Given the description of an element on the screen output the (x, y) to click on. 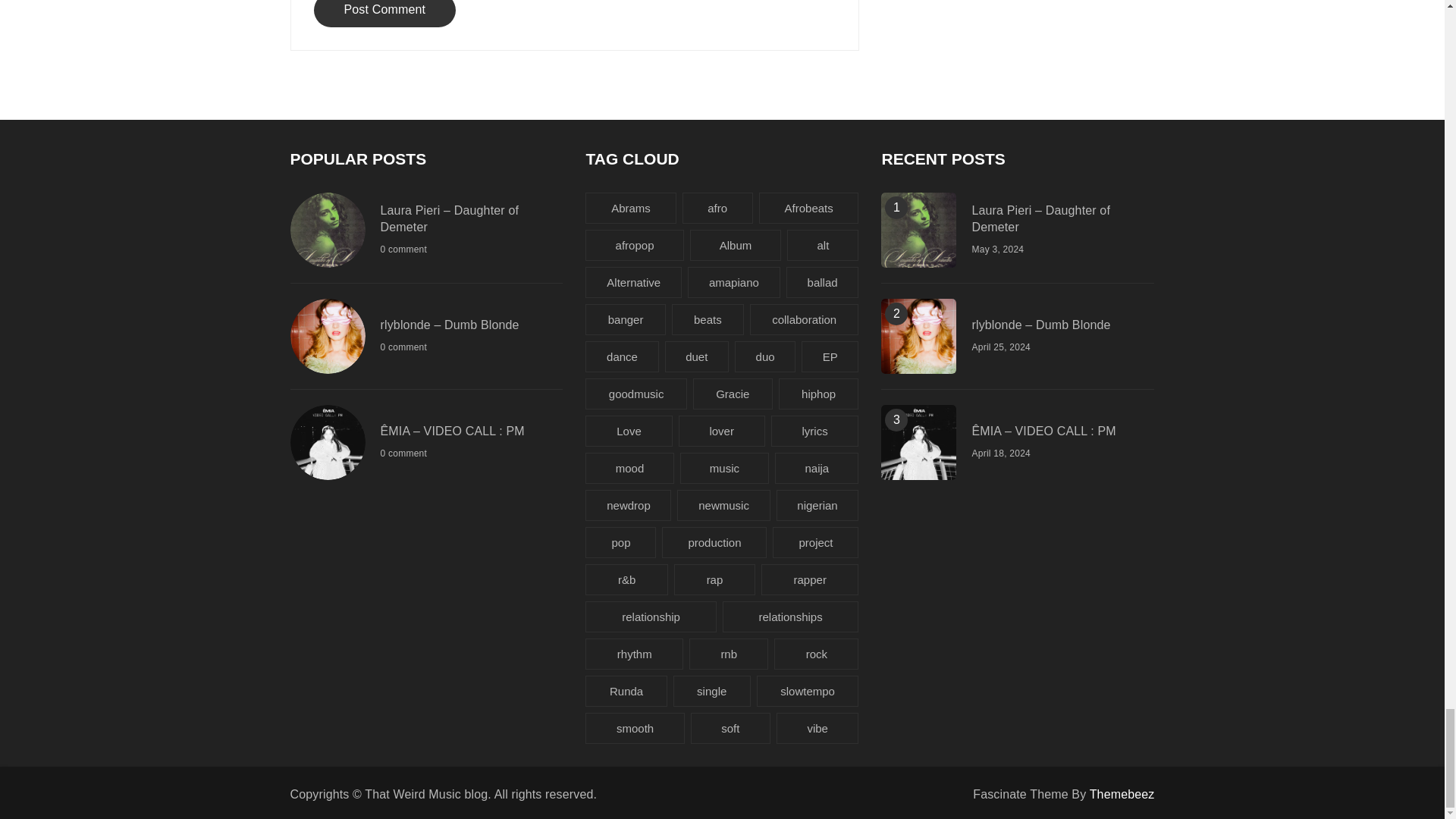
Post Comment (385, 13)
Post Comment (385, 13)
